Given the description of an element on the screen output the (x, y) to click on. 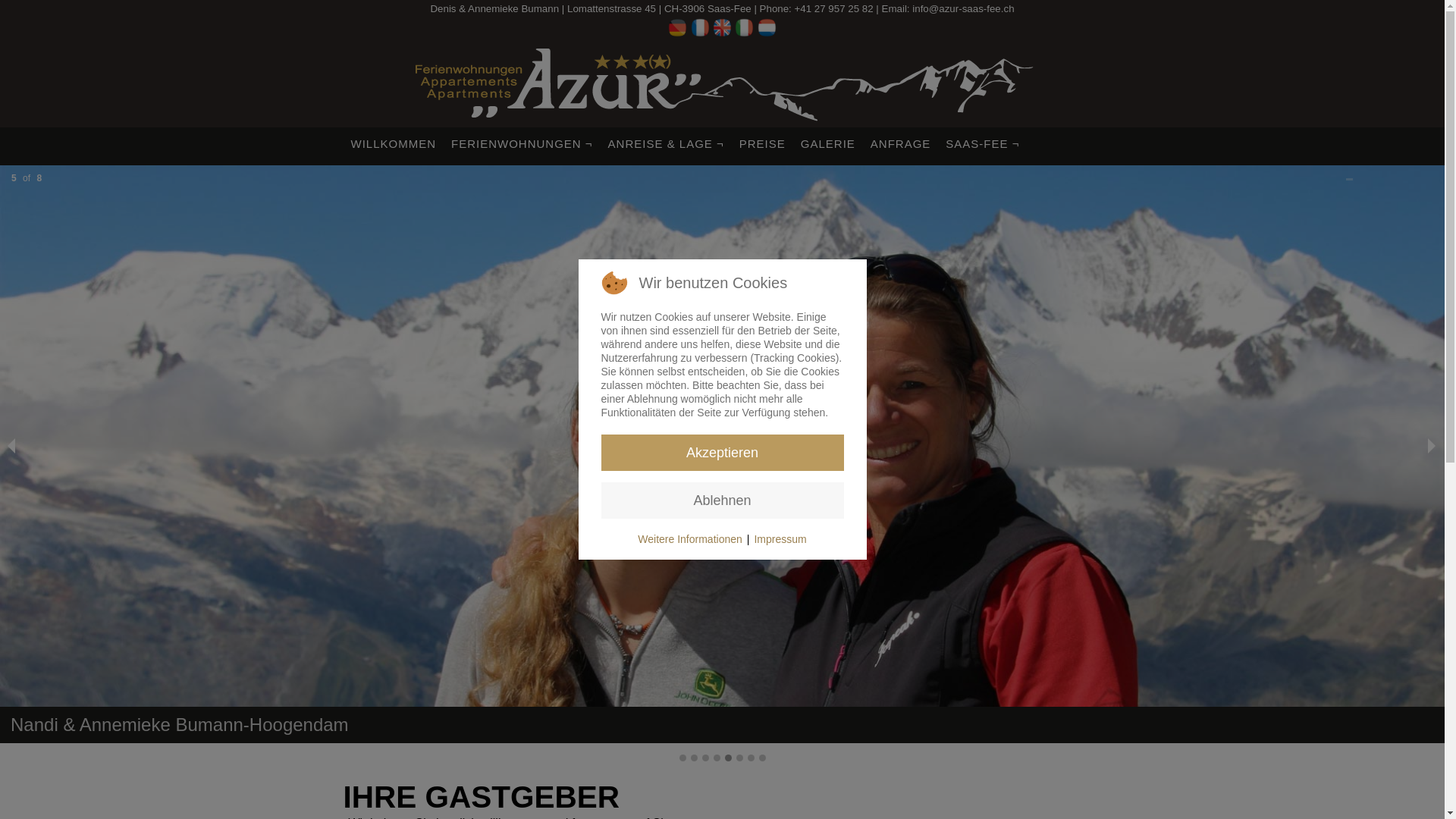
info@azur-saas-fee.ch Element type: text (962, 8)
Impressum Element type: text (779, 538)
PREISE Element type: text (762, 143)
Weitere Informationen Element type: text (689, 538)
ANFRAGE Element type: text (900, 143)
Ablehnen Element type: text (721, 500)
GALERIE Element type: text (827, 143)
WILLKOMMEN Element type: text (392, 143)
Akzeptieren Element type: text (721, 452)
